Given the description of an element on the screen output the (x, y) to click on. 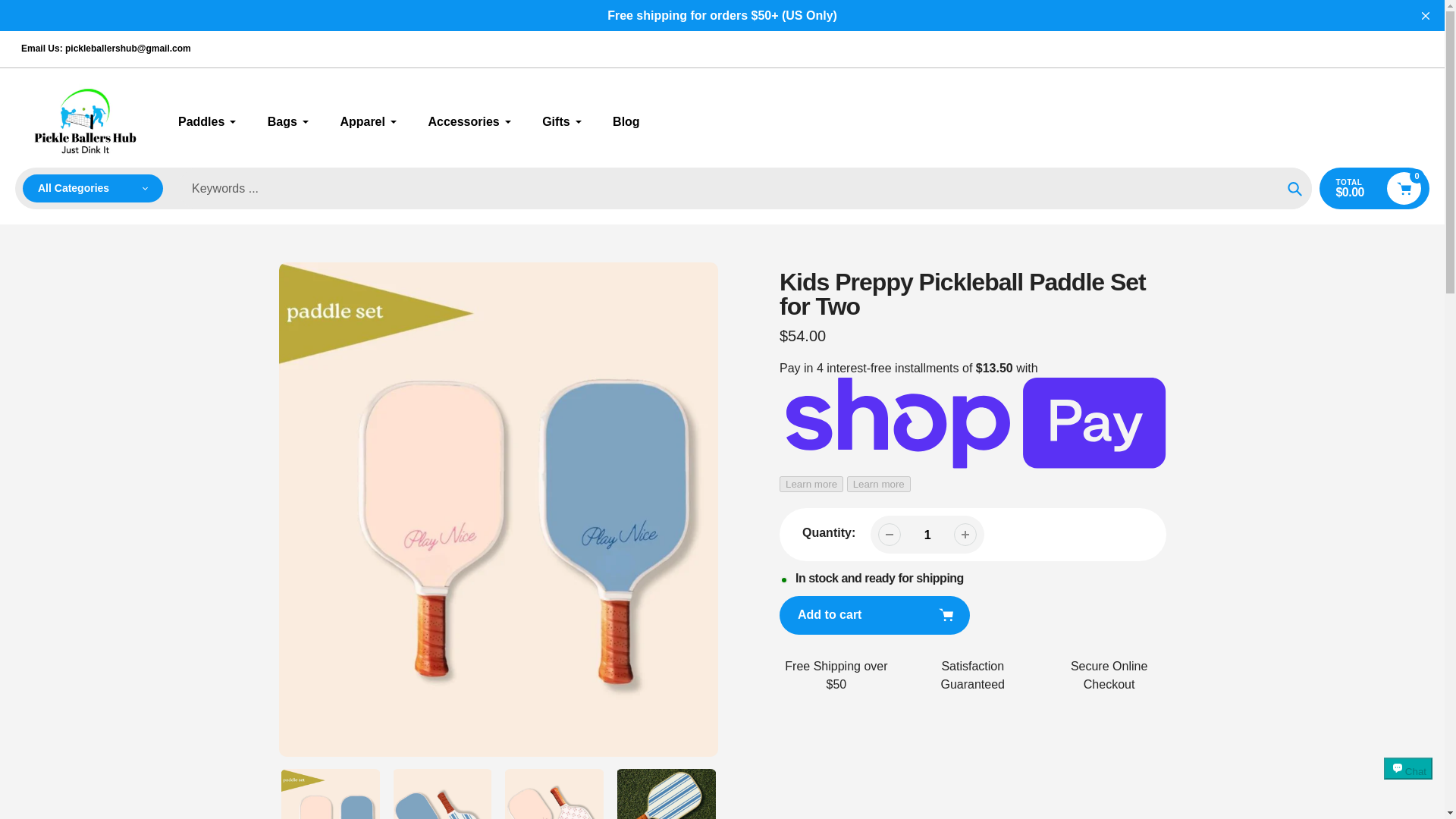
1 (927, 534)
Shopify online store chat (1408, 781)
Paddles (207, 122)
Bags (288, 122)
